Given the description of an element on the screen output the (x, y) to click on. 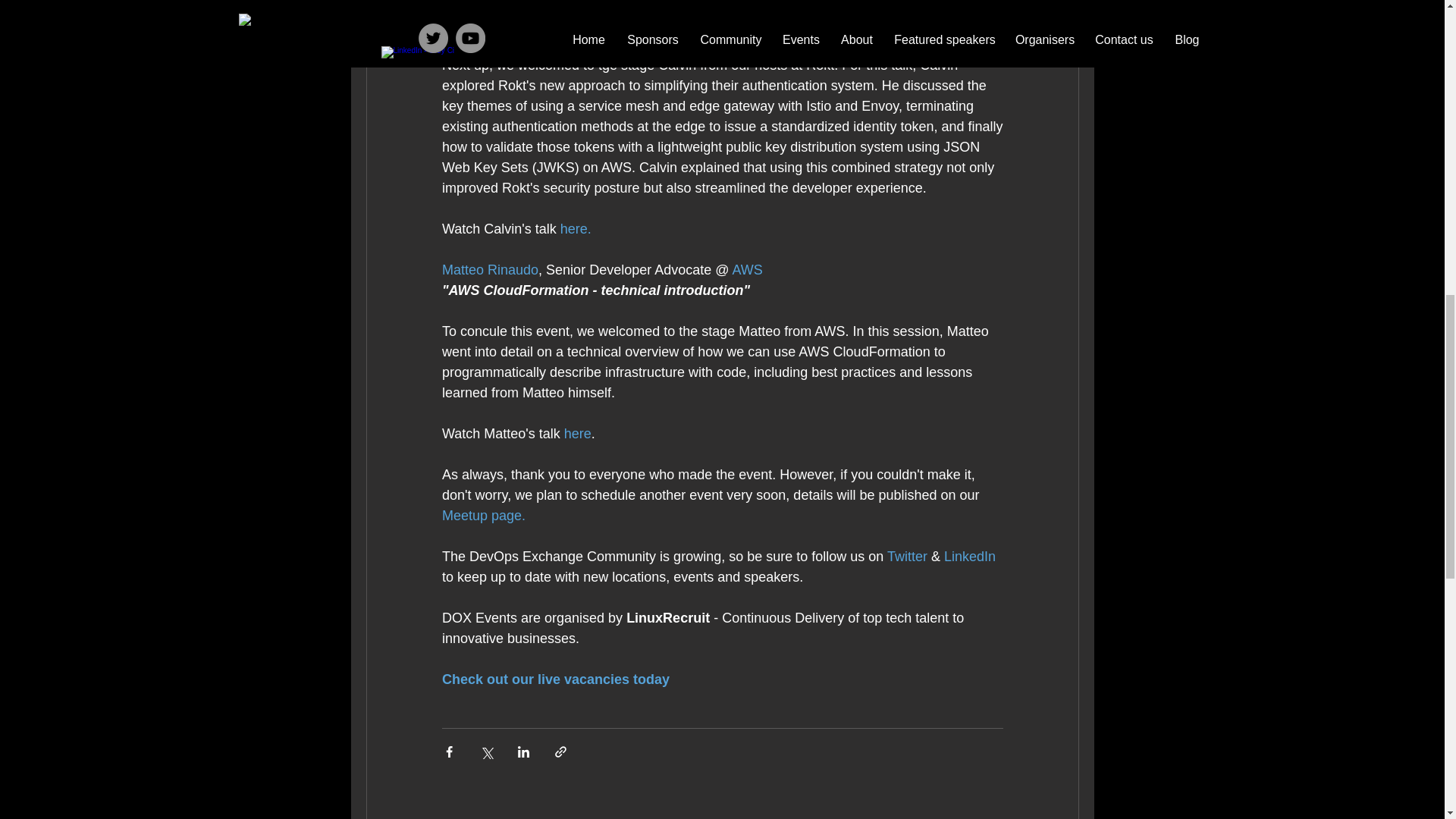
AWS (746, 269)
Matteo Rinaudo (489, 269)
here. (575, 228)
here (577, 433)
Check out our live vacancies today (554, 679)
Meetup page.  (484, 515)
LinkedIn (968, 556)
Twitter (906, 556)
